Given the description of an element on the screen output the (x, y) to click on. 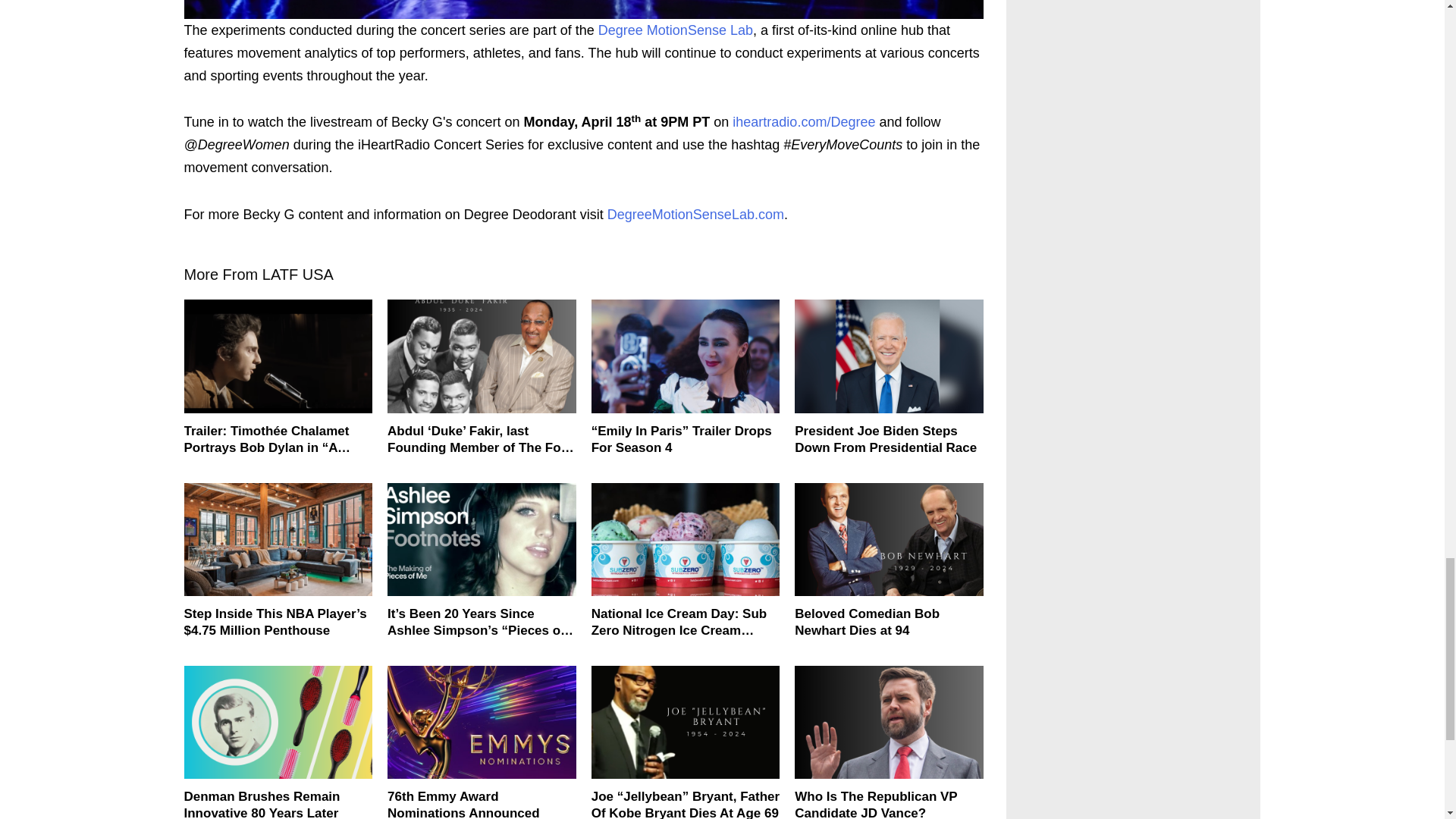
jd vance (889, 721)
Joe Jellybean Bryant (685, 721)
timothee chalamet, bob dylan (277, 355)
president joe biden (889, 355)
nba player penthouse boston (277, 539)
denman brushes, hair brushes (277, 721)
Bob Newhart (889, 539)
